Given the description of an element on the screen output the (x, y) to click on. 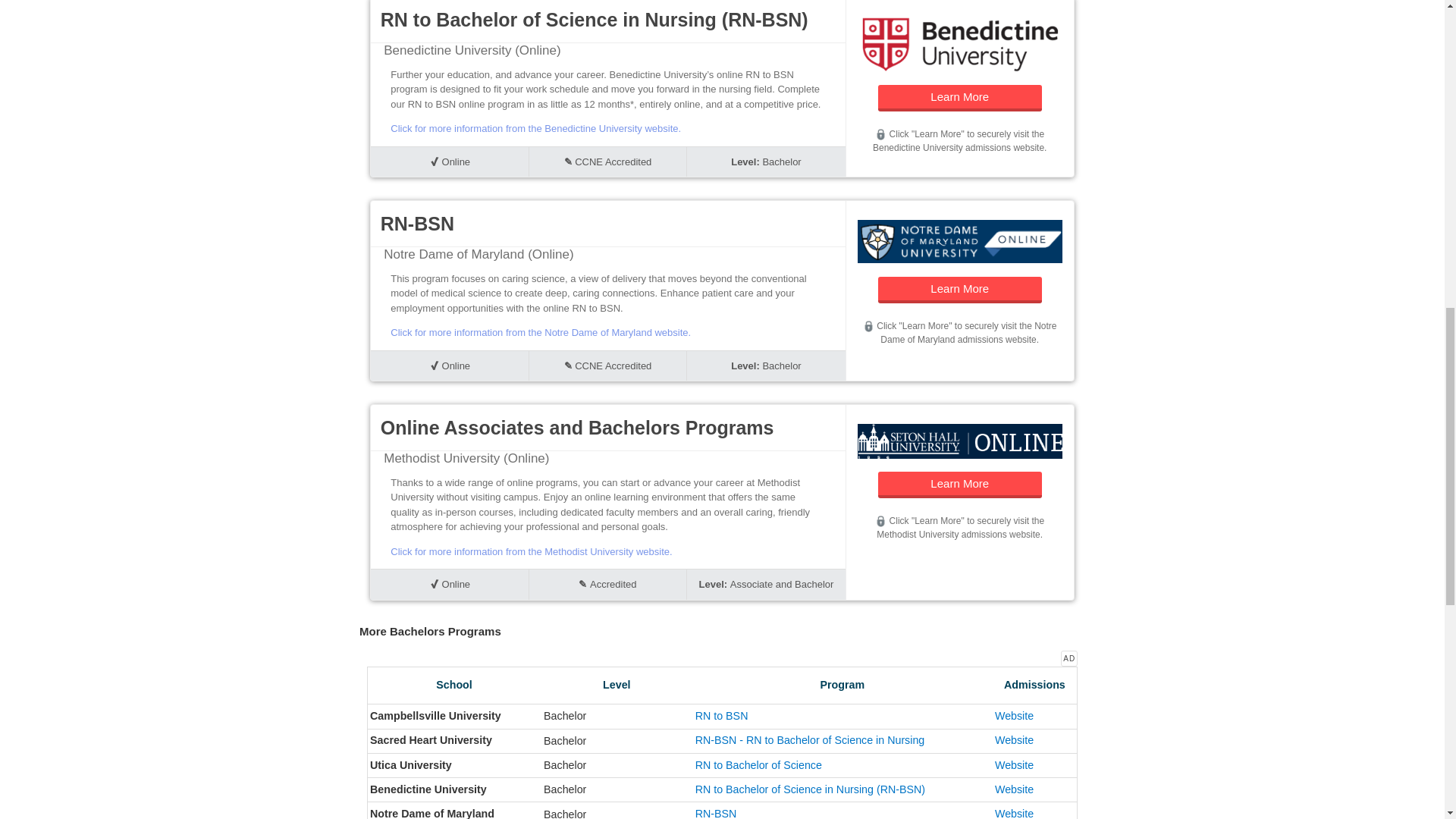
RN-BSN - RN to Bachelor of Science in Nursing (809, 739)
Website (1013, 788)
RN to Bachelor of Science (758, 765)
Website (1013, 813)
Learn More (959, 484)
RN-BSN (715, 813)
Visit the Methodist University admissions website securely. (880, 521)
Website (1013, 715)
